Given the description of an element on the screen output the (x, y) to click on. 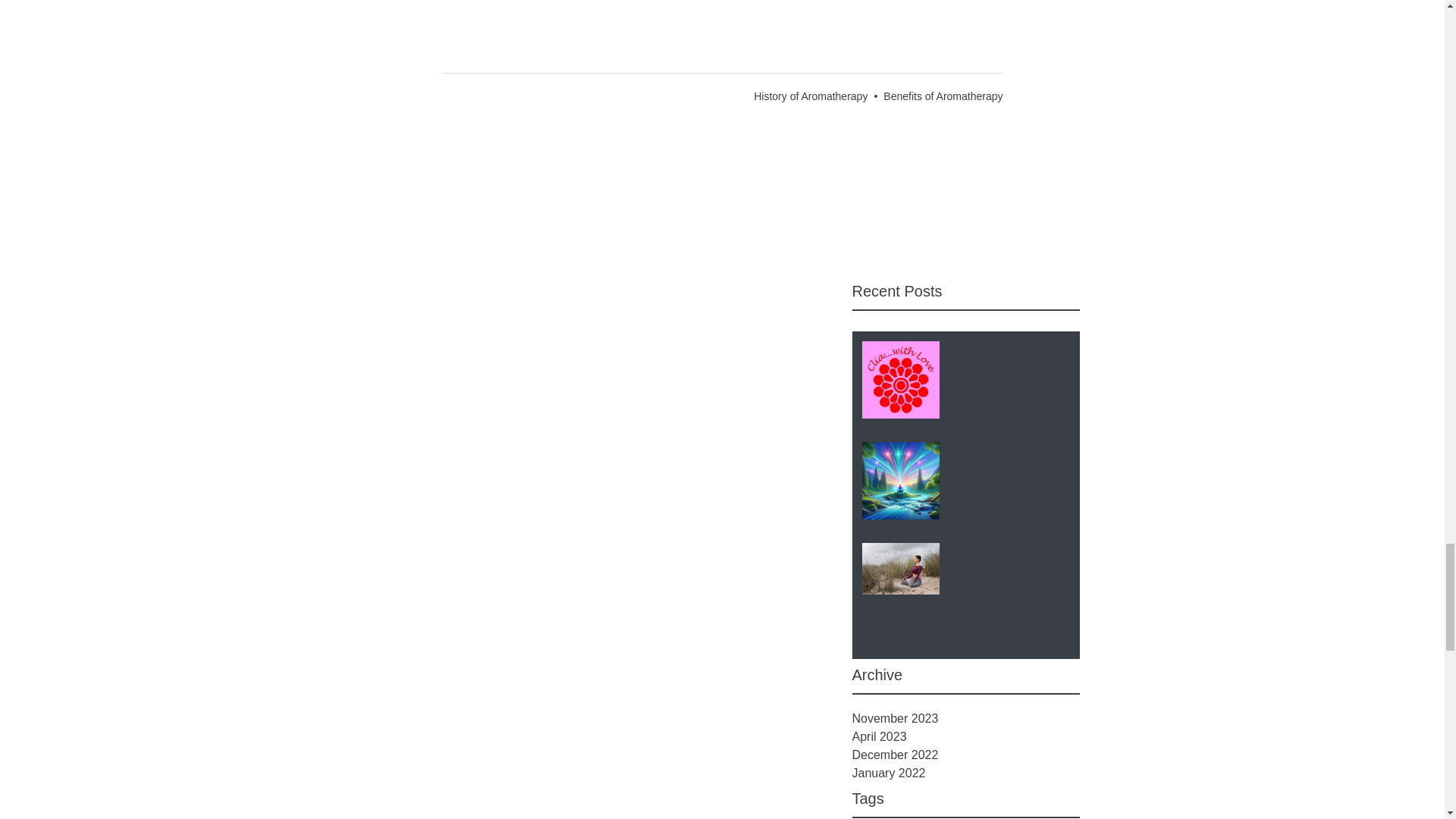
November 2023 (965, 719)
April 2023 (965, 737)
Benefits of Aromatherapy (943, 96)
History of Aromatherapy (810, 96)
January 2022 (965, 773)
December 2022 (965, 755)
Colour Psychology (993, 419)
Embracing the Healing Power of Energy (1009, 476)
